Given the description of an element on the screen output the (x, y) to click on. 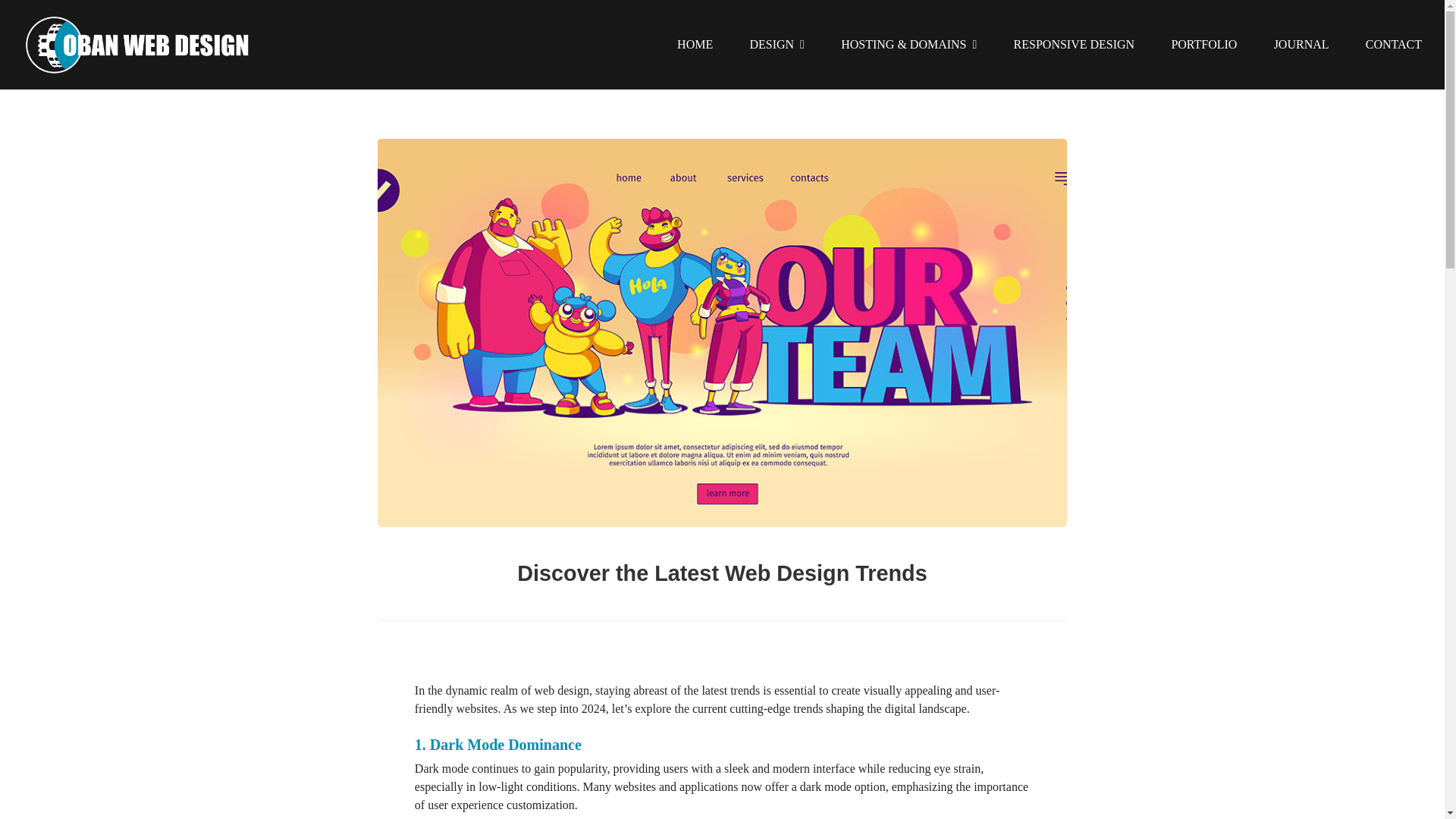
RESPONSIVE DESIGN (1074, 44)
DESIGN (777, 44)
JOURNAL (1301, 44)
PORTFOLIO (1203, 44)
CONTACT (1393, 44)
